Given the description of an element on the screen output the (x, y) to click on. 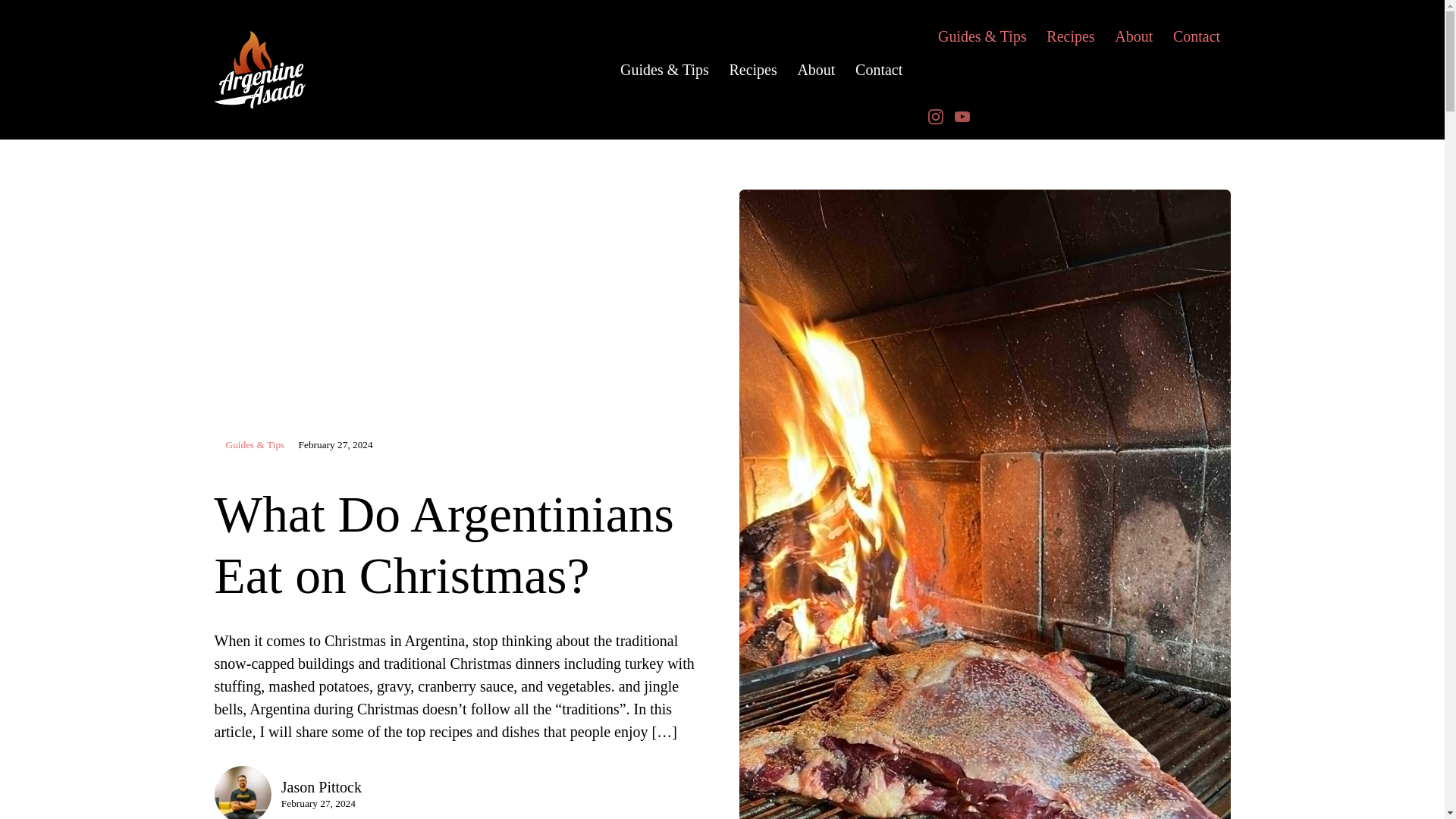
Recipes (753, 69)
Jason Pittock (321, 786)
Contact (878, 69)
About (816, 69)
About (1134, 36)
Recipes (1070, 36)
Contact (1196, 36)
